Given the description of an element on the screen output the (x, y) to click on. 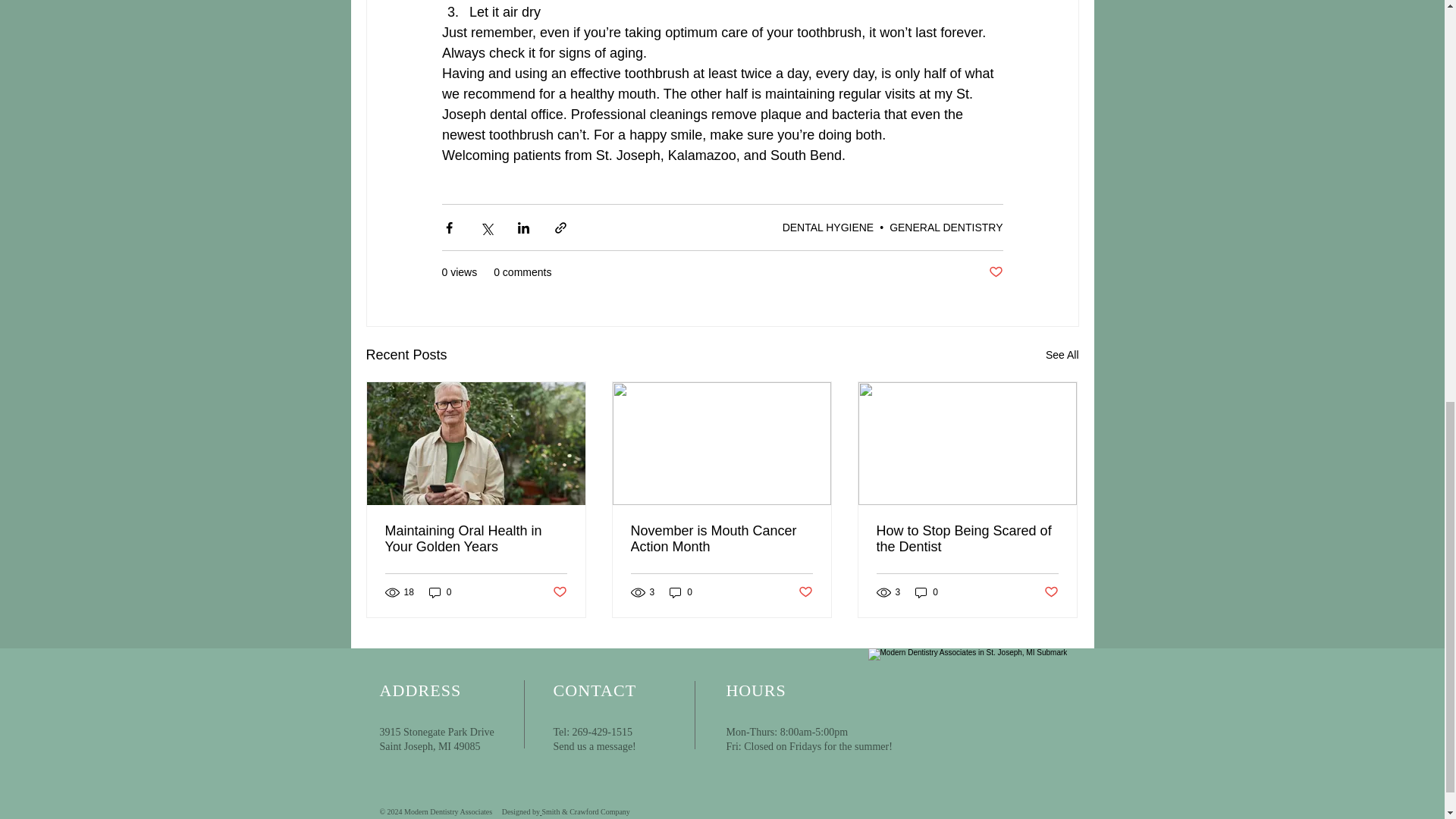
DENTAL HYGIENE (829, 227)
GENERAL DENTISTRY (946, 227)
Post not marked as liked (995, 272)
See All (1061, 354)
